Given the description of an element on the screen output the (x, y) to click on. 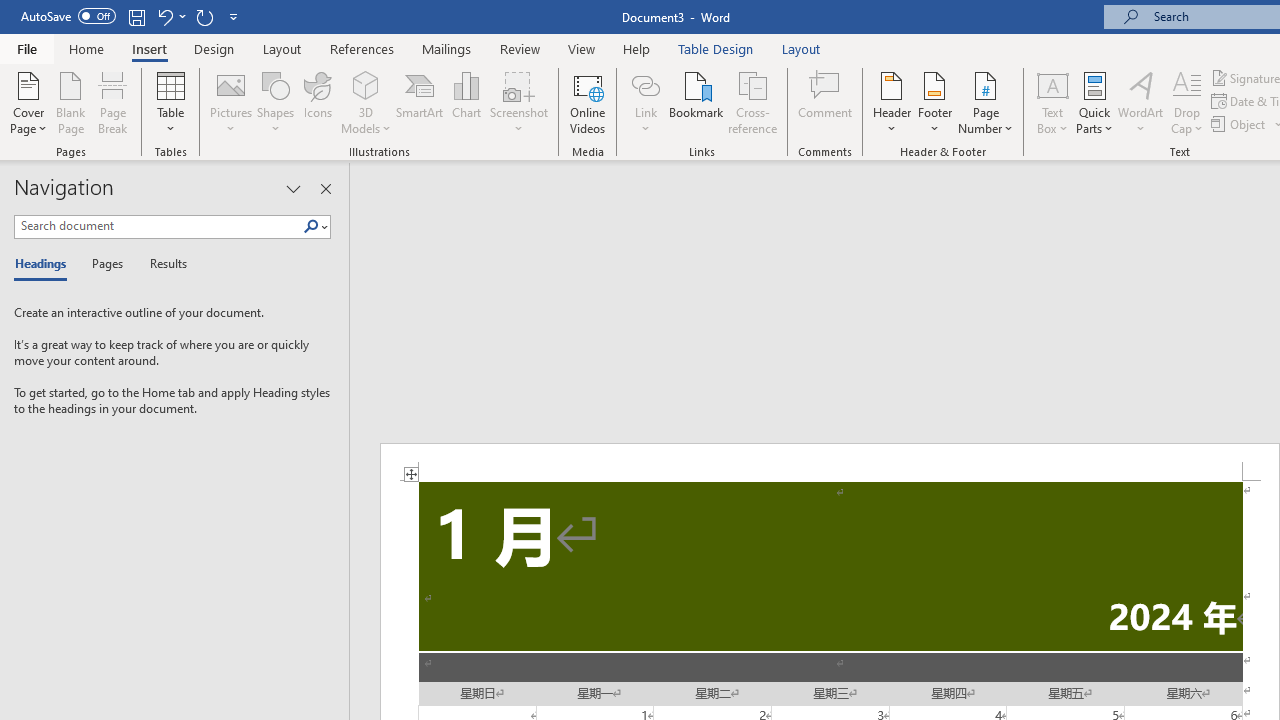
Pictures (230, 102)
Quick Parts (1094, 102)
Page Number (986, 102)
Drop Cap (1187, 102)
Online Videos... (588, 102)
Task Pane Options (293, 188)
Pages (105, 264)
Footer (934, 102)
Cover Page (28, 102)
